Given the description of an element on the screen output the (x, y) to click on. 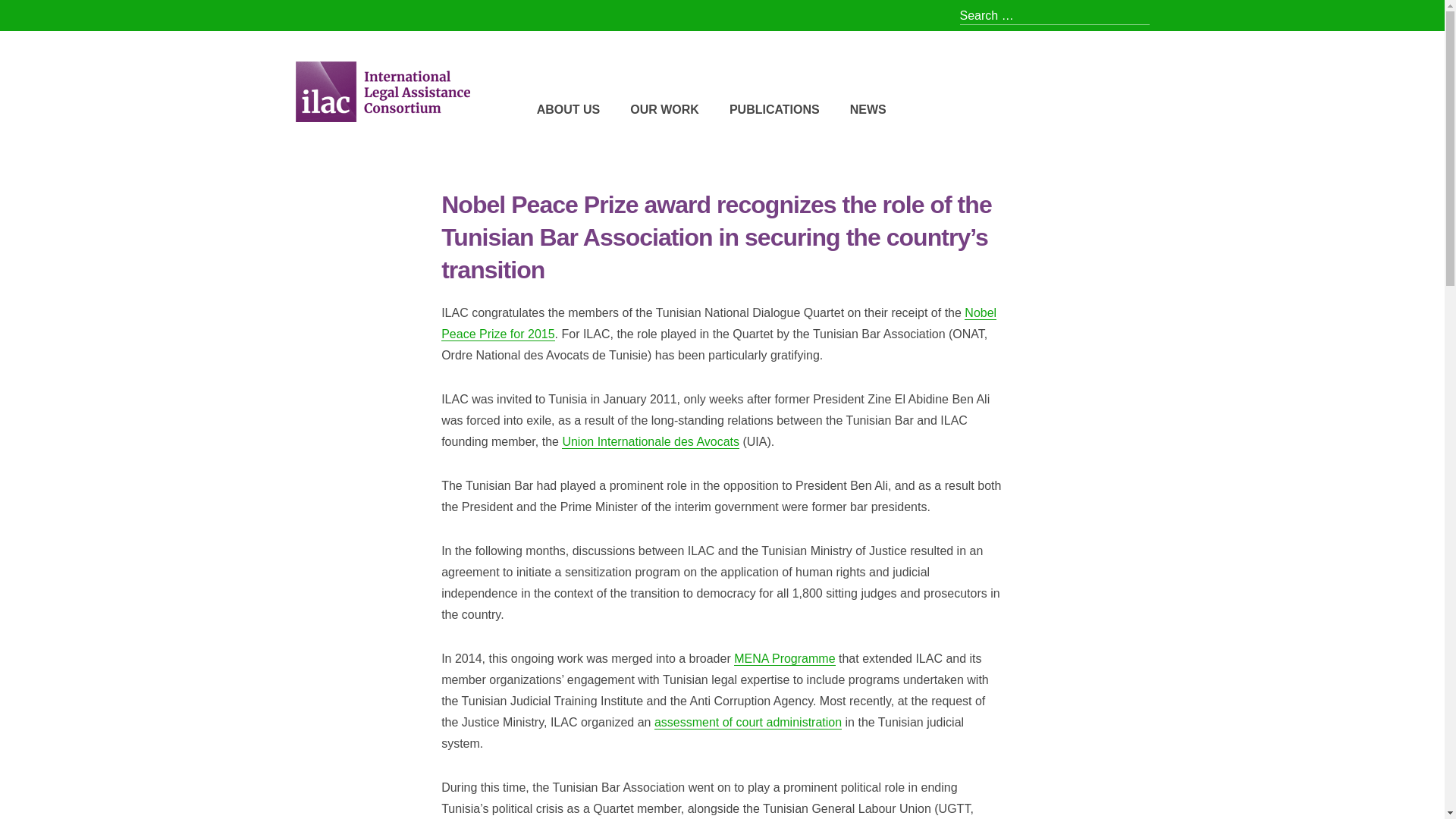
Nobel Peace Prize for 2015 (718, 323)
Union Internationale des Avocats (650, 441)
PUBLICATIONS (774, 109)
OUR WORK (664, 109)
NEWS (868, 109)
MENA Programme (783, 658)
Search (32, 16)
assessment of court administration (747, 722)
International Legal Assistance Consortium (483, 144)
ABOUT US (568, 109)
